Given the description of an element on the screen output the (x, y) to click on. 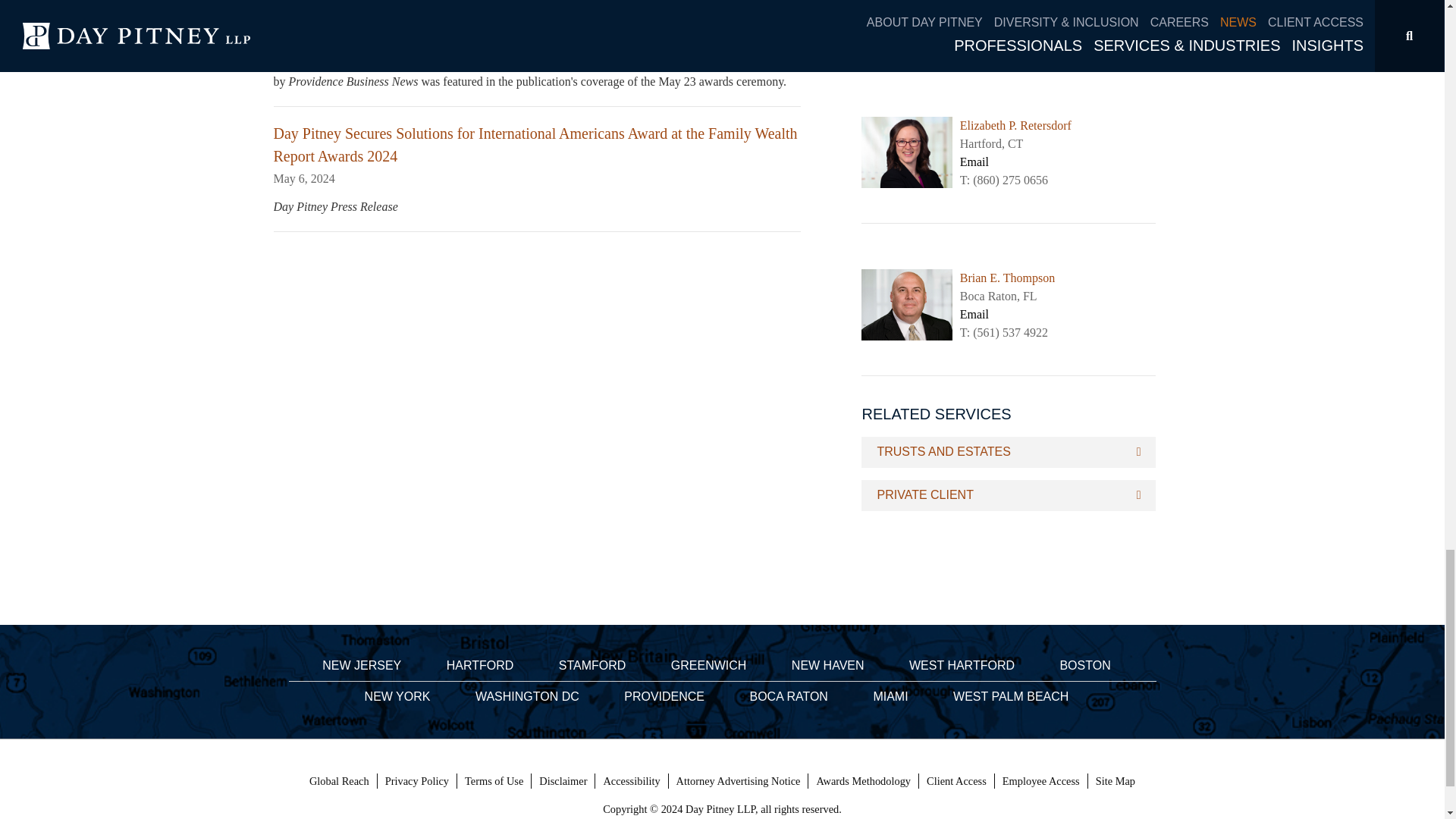
This link opens a new window to an external website (1040, 780)
